Given the description of an element on the screen output the (x, y) to click on. 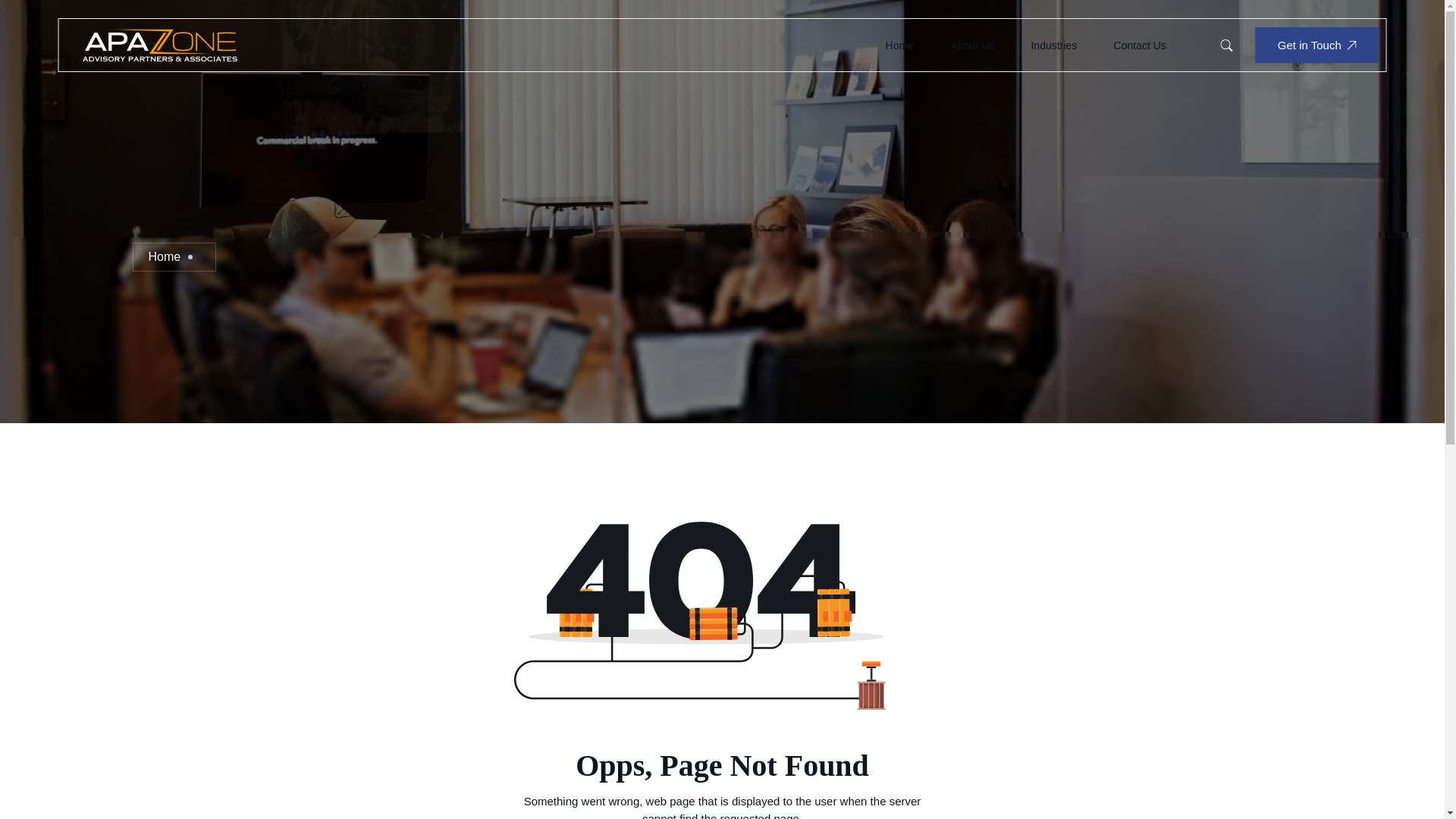
Contact Us (1139, 45)
Get in Touch (1316, 45)
Home (164, 256)
Home (899, 45)
About Us (971, 45)
apazone.com (159, 43)
Industries (1053, 45)
